Given the description of an element on the screen output the (x, y) to click on. 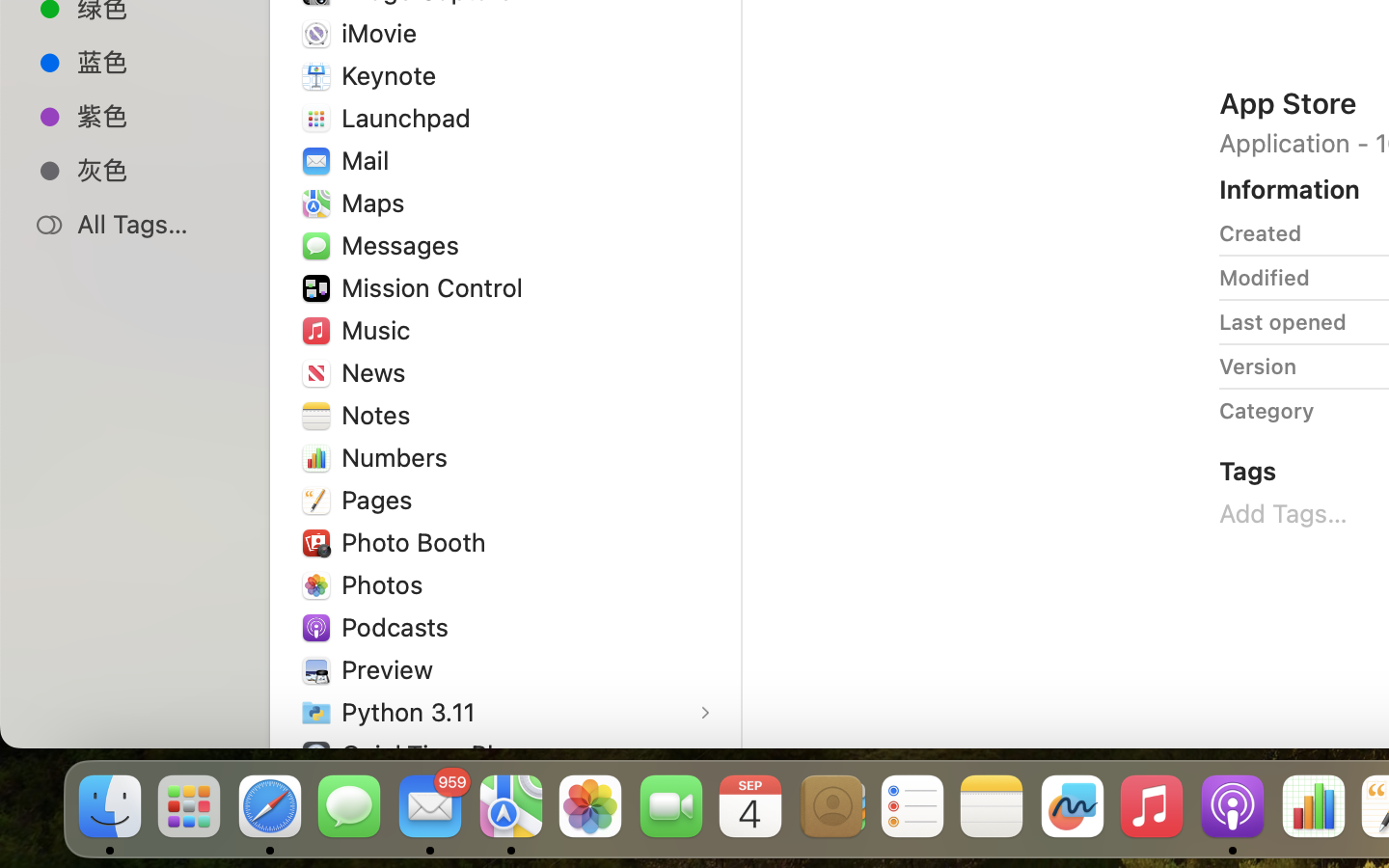
Launchpad Element type: AXTextField (410, 117)
QuickTime Player Element type: AXTextField (446, 753)
Notes Element type: AXTextField (379, 414)
Last opened Element type: AXStaticText (1282, 321)
iMovie Element type: AXTextField (383, 32)
